Given the description of an element on the screen output the (x, y) to click on. 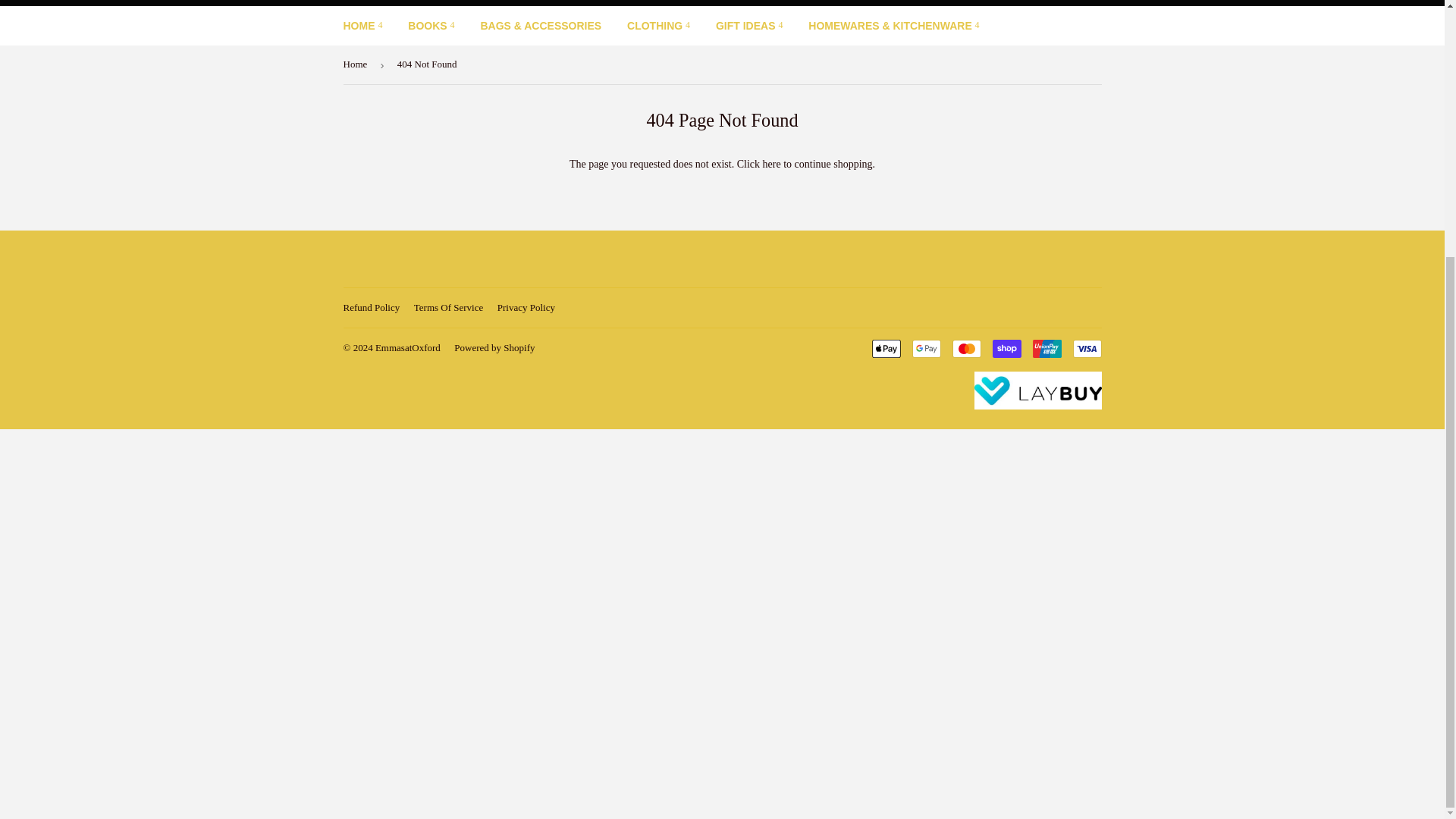
Visa (1085, 348)
Apple Pay (886, 348)
Google Pay (925, 348)
Mastercard (966, 348)
Union Pay (1046, 348)
Shop Pay (1005, 348)
